Given the description of an element on the screen output the (x, y) to click on. 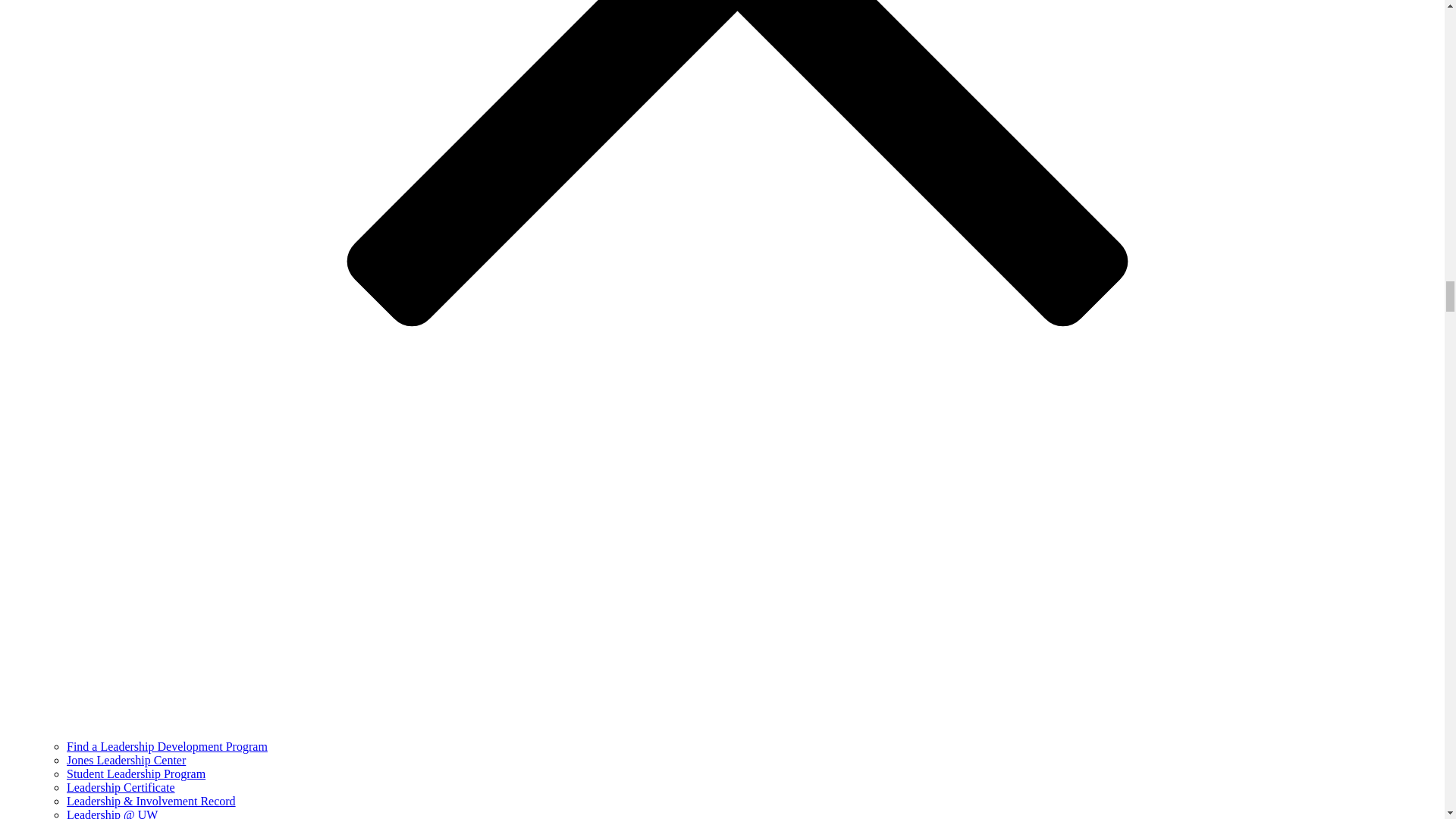
Jones Leadership Center (126, 759)
Leadership Certificate (120, 787)
Find a Leadership Development Program (166, 746)
Student Leadership Program (135, 773)
